Given the description of an element on the screen output the (x, y) to click on. 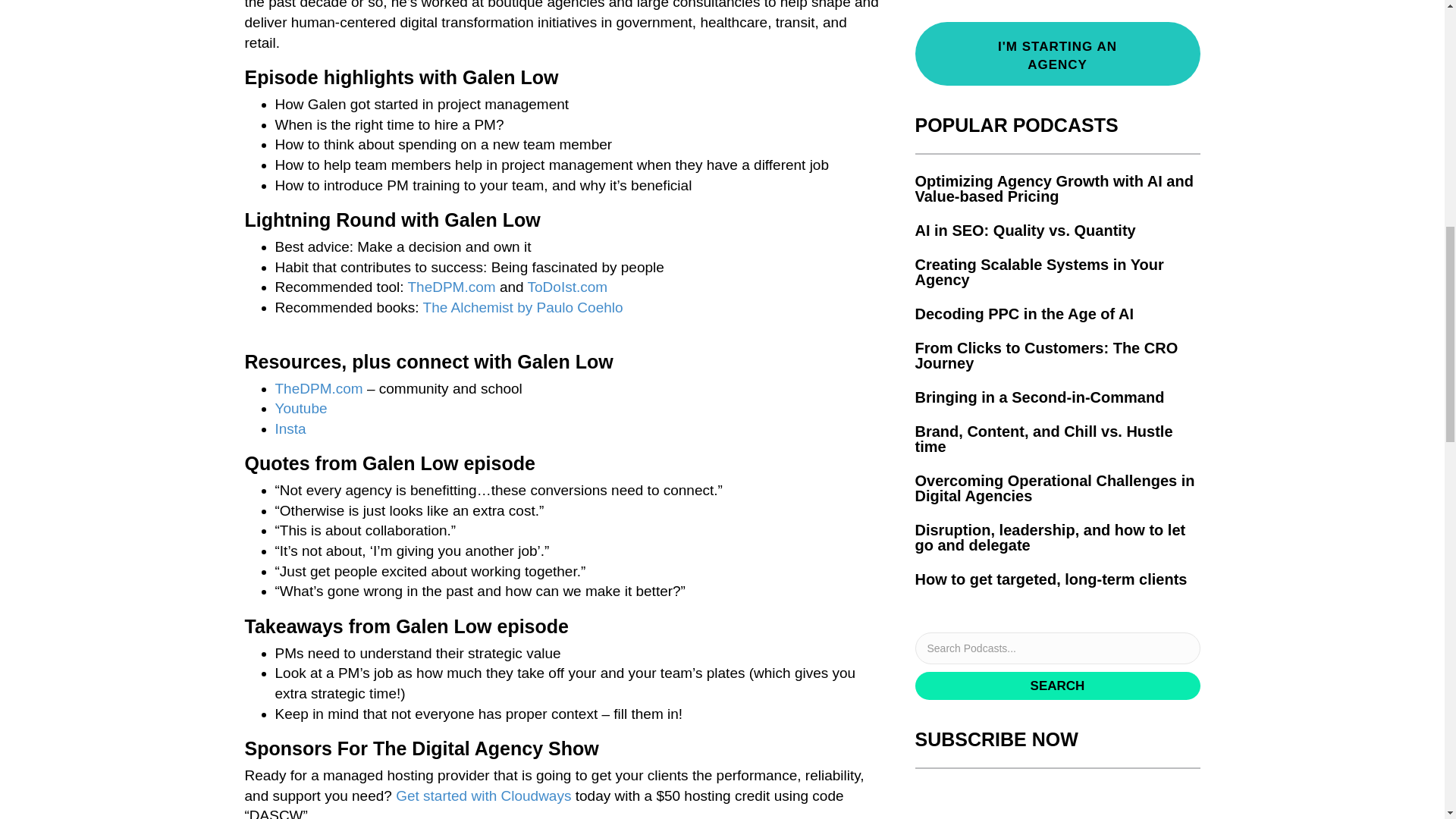
ToDoIst.com (567, 286)
Search (1056, 685)
TheDPM.com (318, 388)
The Alchemist by Paulo Coehlo (523, 307)
Optimizing Agency Growth with AI and Value-based Pricing (1053, 188)
From Clicks to Customers: The CRO Journey (1045, 355)
Insta (290, 428)
Disruption, leadership, and how to let go and delegate (1049, 537)
TheDPM.com (451, 286)
Creating Scalable Systems in Your Agency (1038, 272)
